Given the description of an element on the screen output the (x, y) to click on. 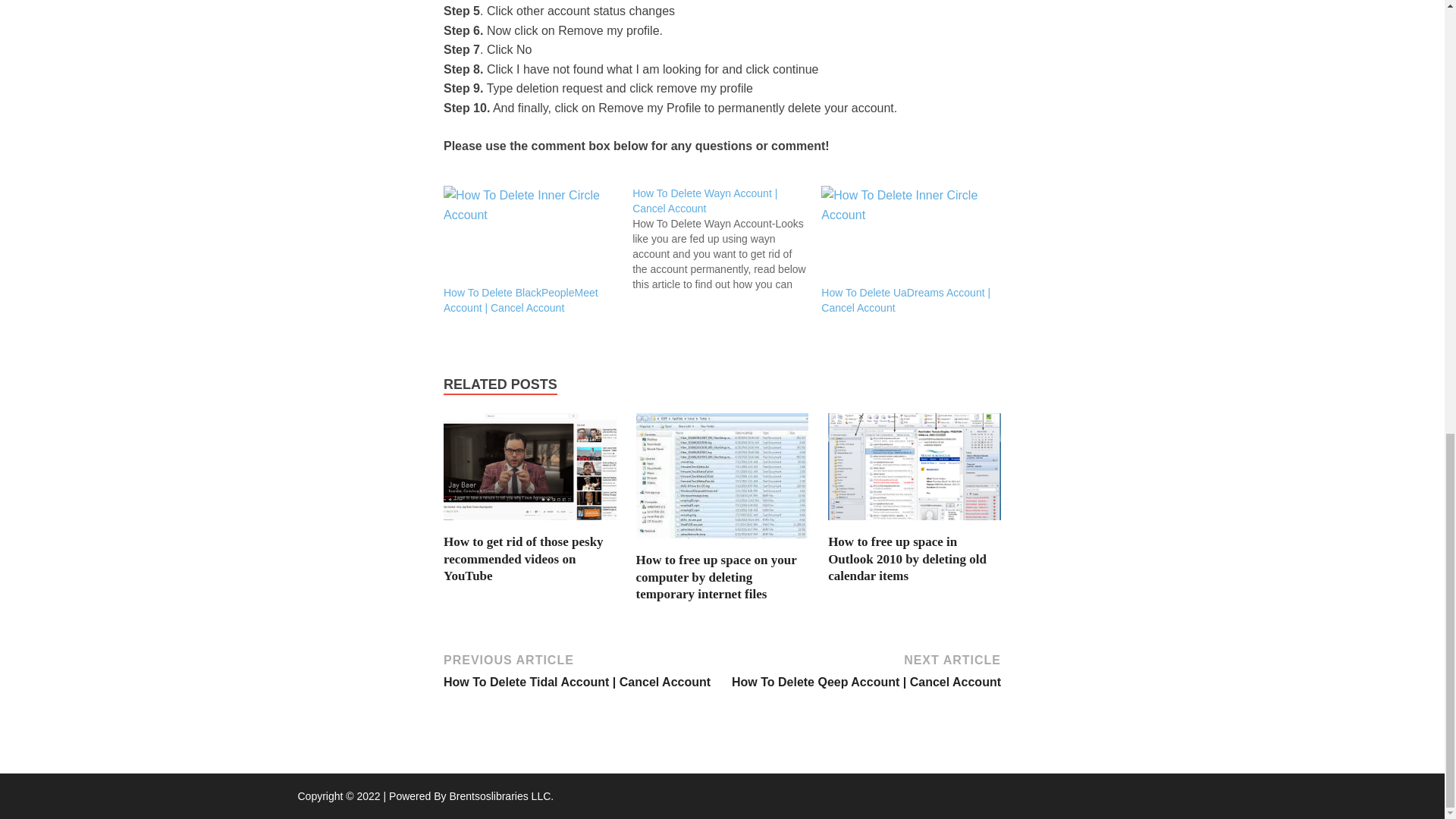
How to get rid of those pesky recommended videos on YouTube (524, 558)
How to get rid of those pesky recommended videos on YouTube (524, 558)
How to get rid of those pesky recommended videos on YouTube (529, 523)
